Given the description of an element on the screen output the (x, y) to click on. 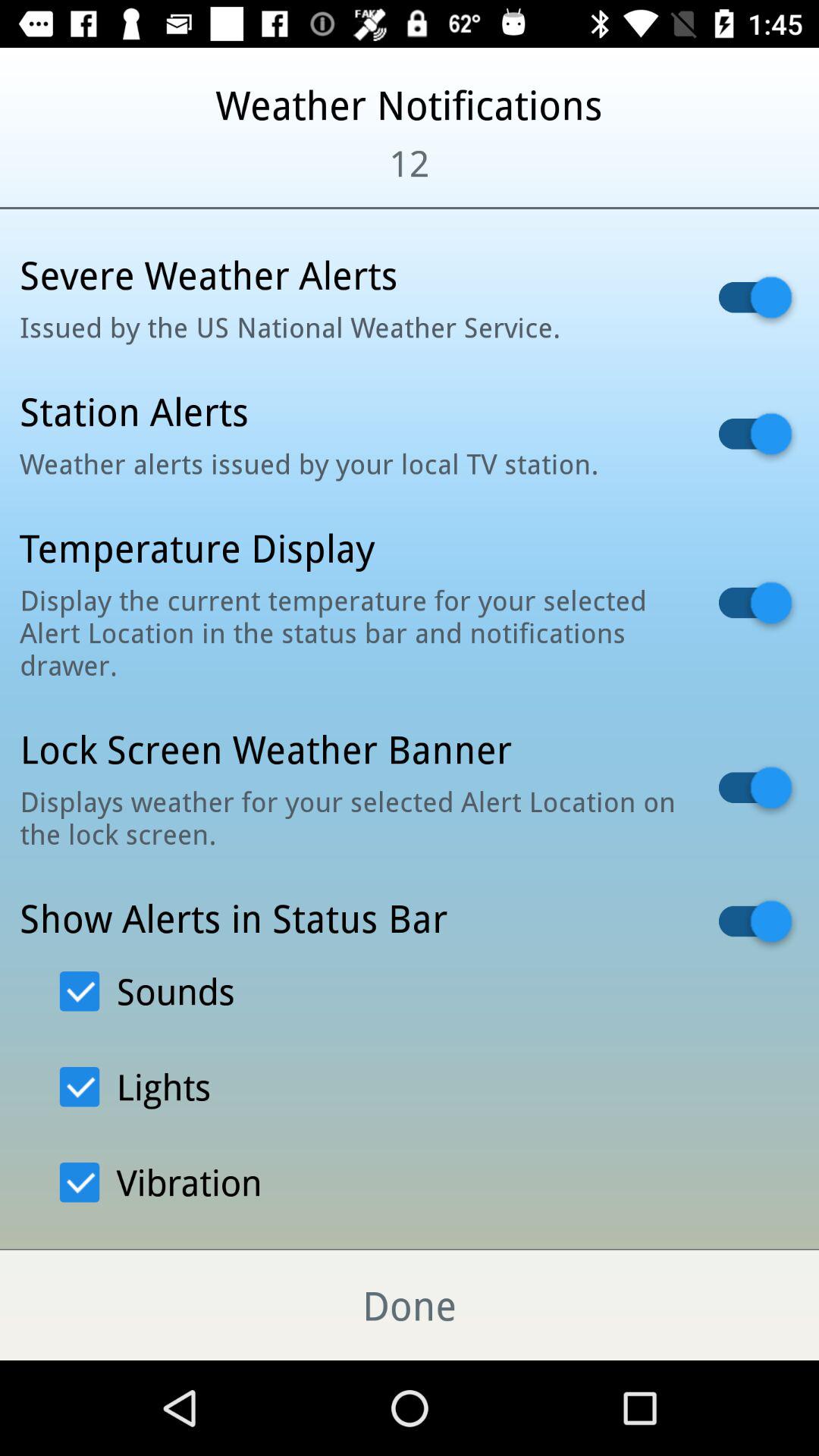
click on below sounds (134, 1086)
select the option vibration (160, 1182)
click tick icon left to text lights (79, 1086)
